Given the description of an element on the screen output the (x, y) to click on. 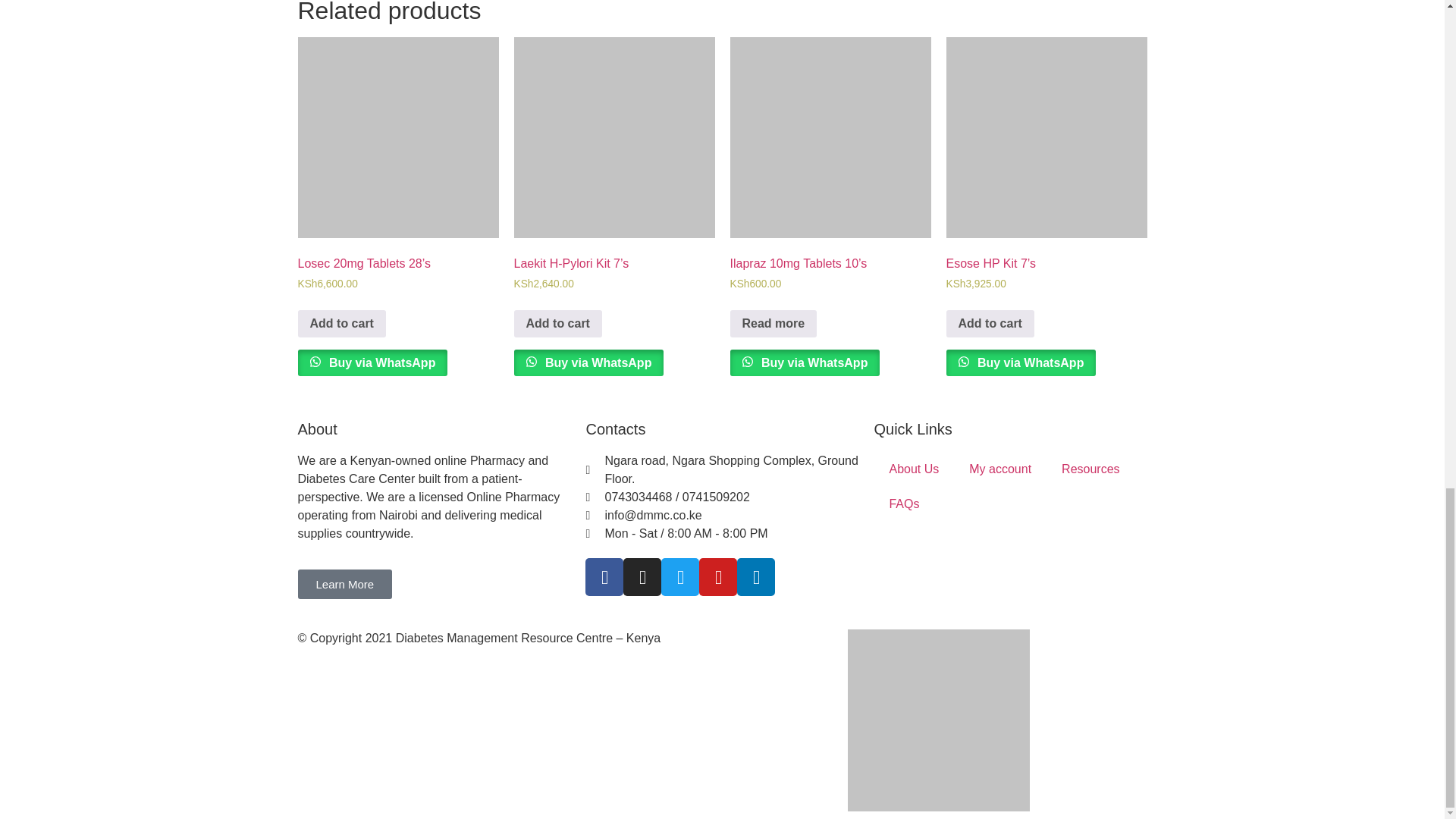
Complete order on WhatsApp to buy Laekit H-Pylori Kit 7's (588, 362)
Complete order on WhatsApp to buy Losec 20mg Tablets 28's (371, 362)
Complete order on WhatsApp to buy Ilapraz 10mg Tablets 10's (804, 362)
Complete order on WhatsApp to buy Esose HP Kit 7's (1021, 362)
